Given the description of an element on the screen output the (x, y) to click on. 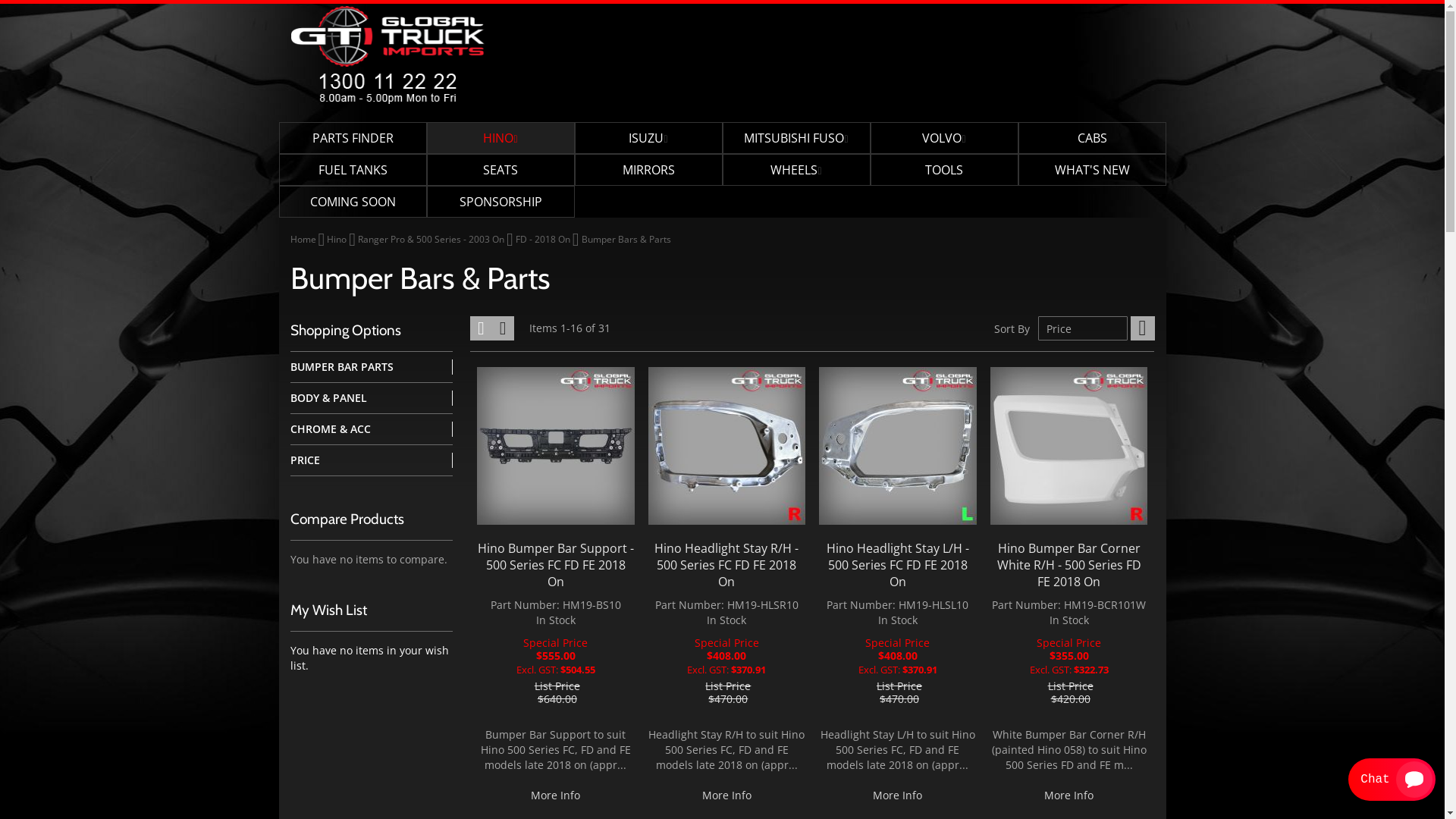
COMING SOON Element type: text (352, 201)
Global Truck Imports Element type: hover (386, 55)
FD - 2018 On Element type: text (543, 238)
Hino Headlight Stay R/H - 500 Series FC FD FE 2018 On Element type: text (726, 564)
ISUZU Element type: text (648, 137)
Smartsupp widget button Element type: hover (1391, 779)
SEATS Element type: text (500, 169)
More Info Element type: text (897, 794)
Hino Headlight Stay L/H - 500 Series FC FD FE 2018 On Element type: text (897, 564)
More Info Element type: text (1068, 794)
Set Ascending Direction Element type: text (1141, 328)
SPONSORSHIP Element type: text (500, 201)
WHEELS Element type: text (795, 169)
Home Element type: text (303, 238)
FUEL TANKS Element type: text (352, 169)
Hino Bumper Bar Corner White R/H - 500 Series FD FE 2018 On Element type: text (1069, 564)
More Info Element type: text (726, 794)
VOLVO Element type: text (944, 137)
MIRRORS Element type: text (648, 169)
TOOLS Element type: text (944, 169)
HINO Element type: text (500, 137)
CABS Element type: text (1091, 137)
Hino Element type: text (337, 238)
Ranger Pro & 500 Series - 2003 On Element type: text (431, 238)
PARTS FINDER Element type: text (352, 137)
Hino Bumper Bar Support - 500 Series FC FD FE 2018 On Element type: text (555, 564)
More Info Element type: text (555, 794)
List Element type: text (503, 328)
WHAT'S NEW Element type: text (1091, 169)
MITSUBISHI FUSO Element type: text (795, 137)
